Given the description of an element on the screen output the (x, y) to click on. 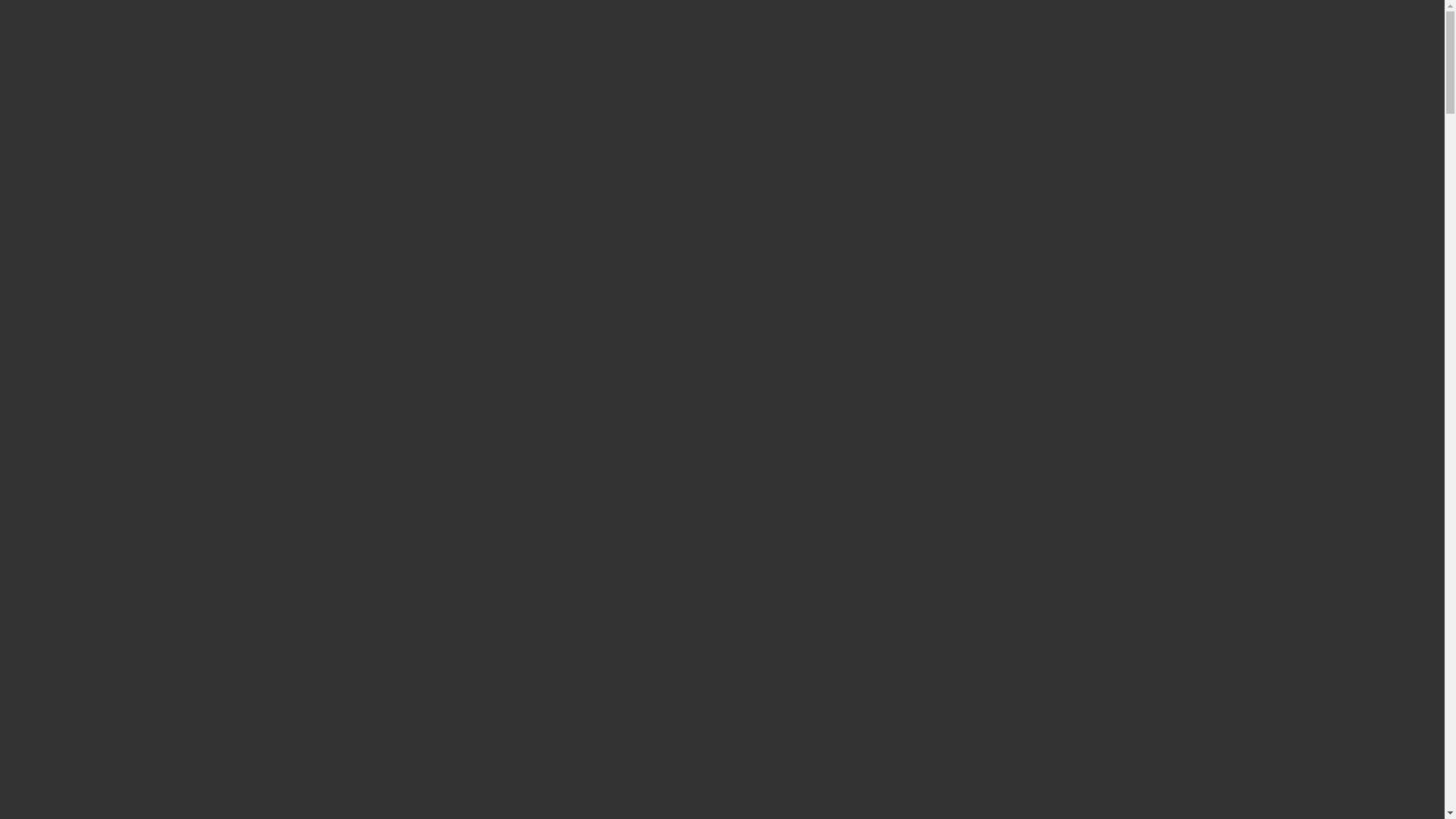
Stamm Element type: text (47, 507)
Jungi Element type: text (43, 465)
Entstehung Element type: text (87, 618)
Sujetchronik Element type: text (91, 548)
Geschichte Element type: text (57, 633)
OK Element type: text (8, 19)
Login Element type: text (14, 425)
Alti Element type: text (39, 577)
Kalender Element type: text (82, 605)
Sujetchronik Element type: text (91, 493)
Hinweis zur Verwendung von Cookies Element type: text (370, 6)
Archiv Element type: text (77, 563)
Mitgliedschaft Element type: text (95, 535)
Erwachsenenkurs Element type: text (103, 521)
